Given the description of an element on the screen output the (x, y) to click on. 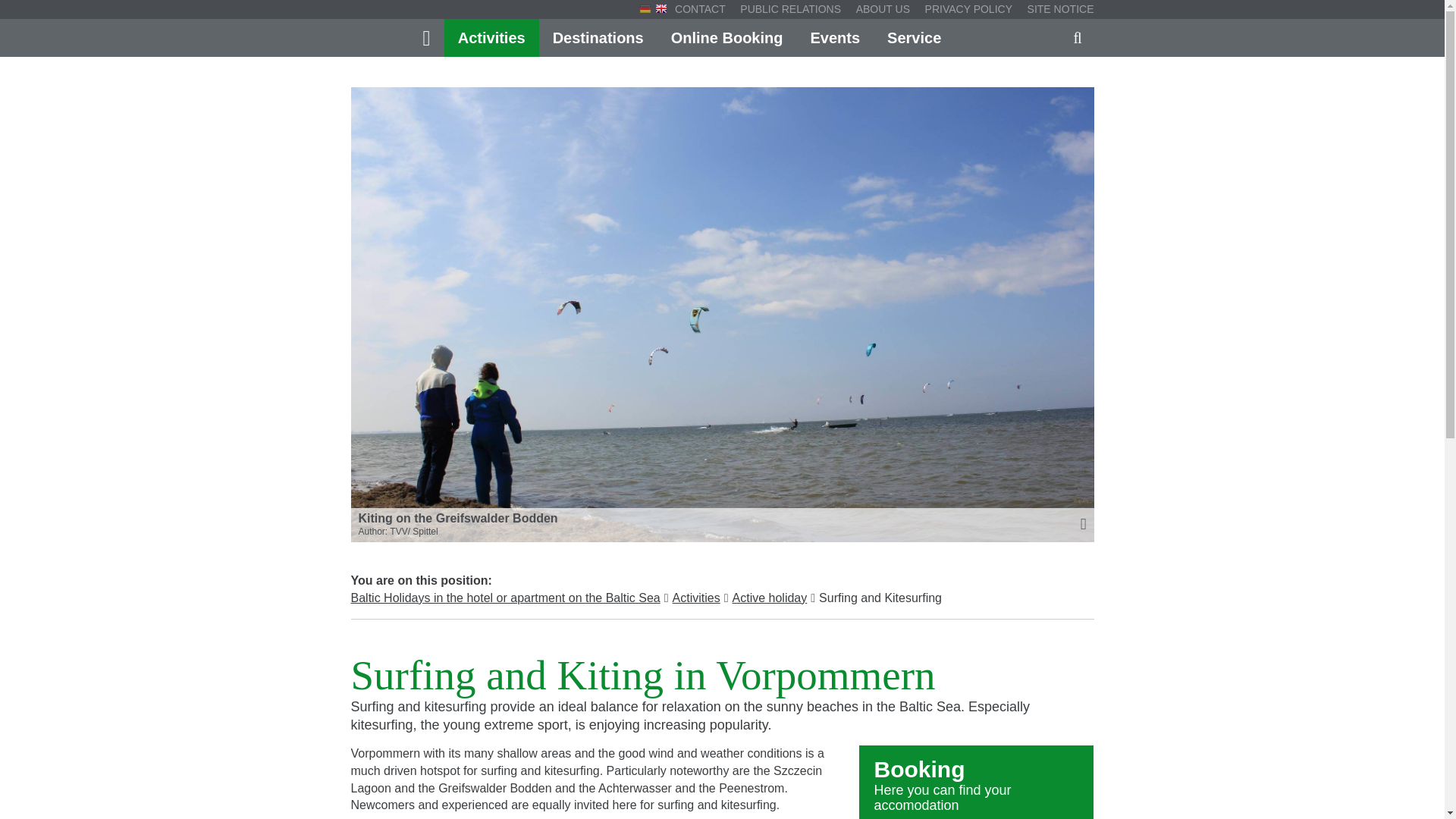
Deutsch (644, 9)
PUBLIC RELATIONS (789, 9)
SITE NOTICE (1057, 9)
ABOUT US (882, 9)
Service (914, 37)
Activities (491, 37)
Contact (703, 9)
Events (834, 37)
Destinations (598, 37)
Online Booking (727, 37)
